Given the description of an element on the screen output the (x, y) to click on. 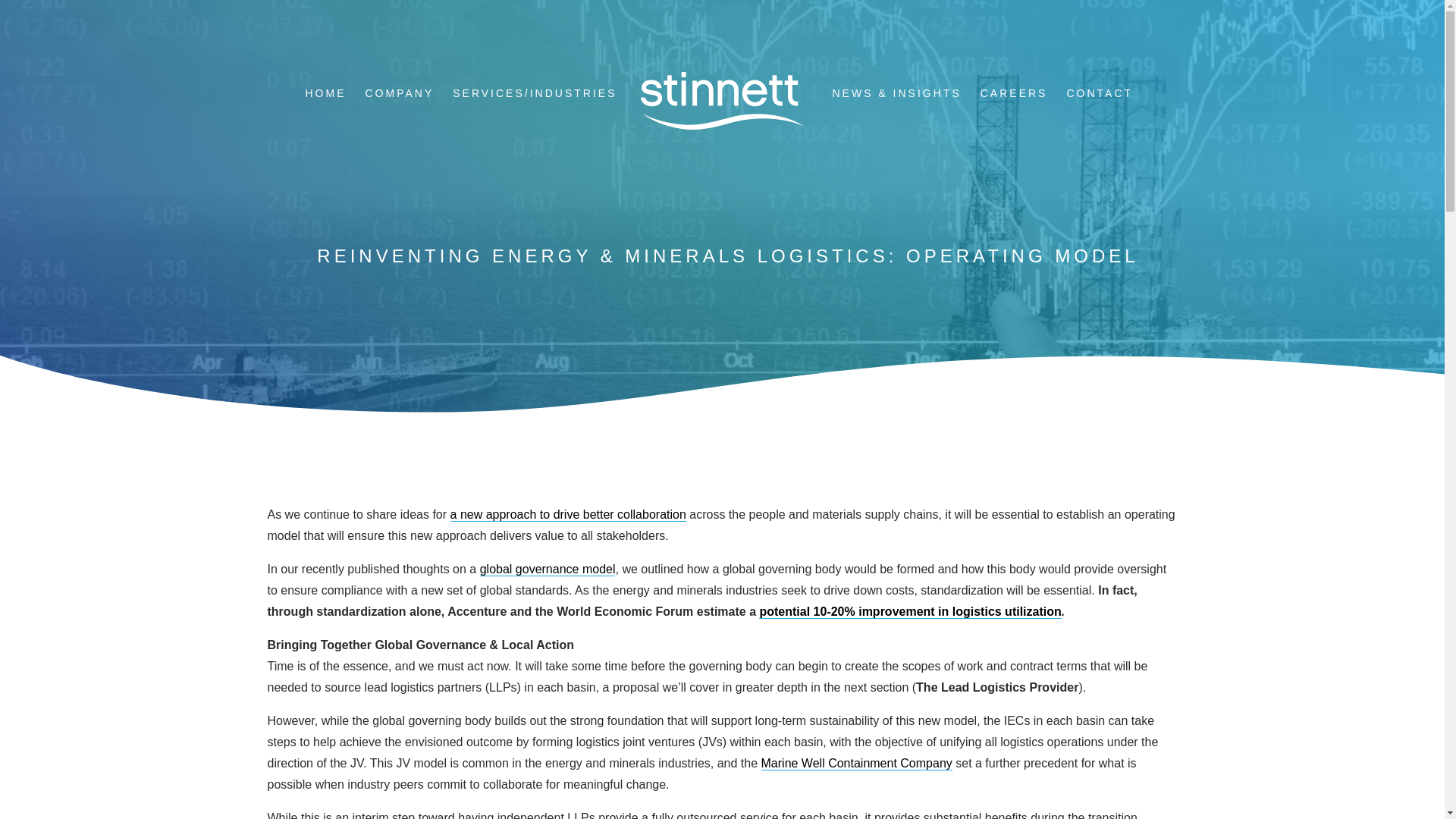
COMPANY (399, 94)
global governance model (547, 569)
CONTACT (1098, 94)
a new approach to drive better collaboration (567, 514)
HOME (325, 94)
Marine Well Containment Company (856, 763)
CAREERS (1013, 94)
